Given the description of an element on the screen output the (x, y) to click on. 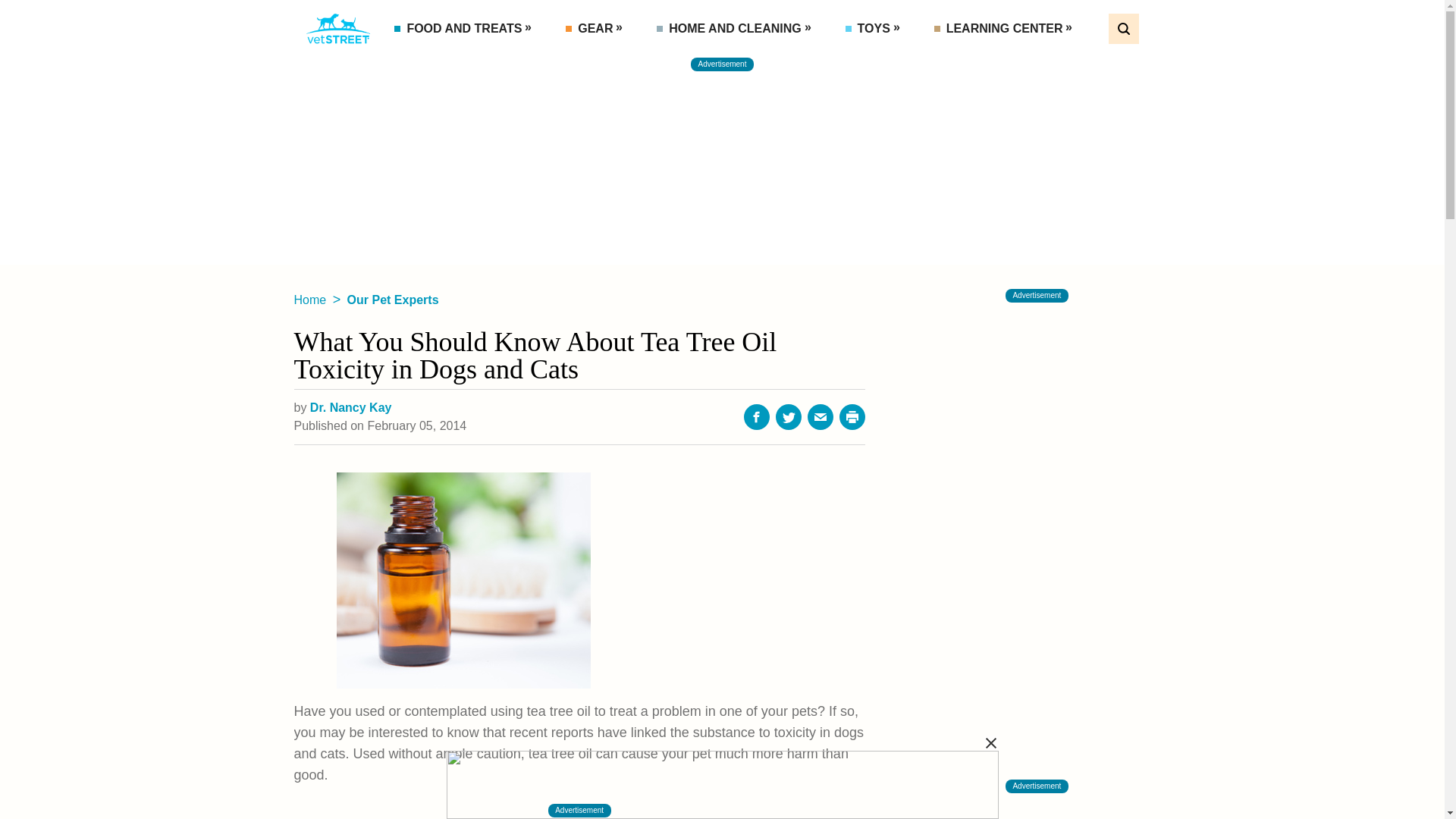
GEAR (596, 28)
Dogs (1019, 62)
Share via email (820, 416)
HOME AND CLEANING (736, 28)
TOYS (875, 28)
Cat Beds (719, 62)
LEARNING CENTER (1006, 28)
Share on Facebook (757, 416)
Cat Gear (629, 62)
Vetstreet (338, 28)
Cat Toys (909, 62)
Share on Twitter (789, 416)
FOOD AND TREATS (465, 28)
Cat Food (457, 62)
